Given the description of an element on the screen output the (x, y) to click on. 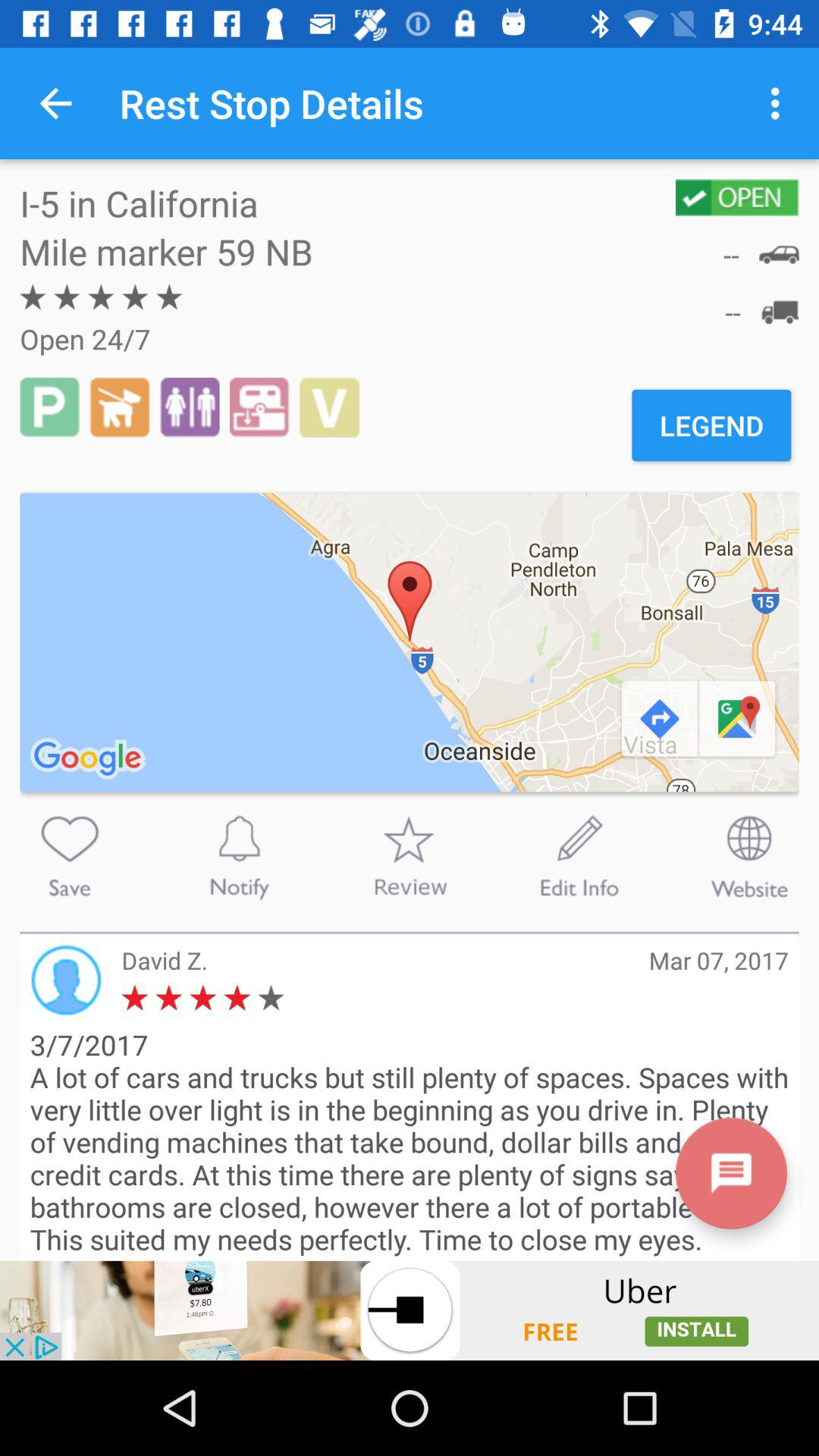
save search (69, 856)
